Given the description of an element on the screen output the (x, y) to click on. 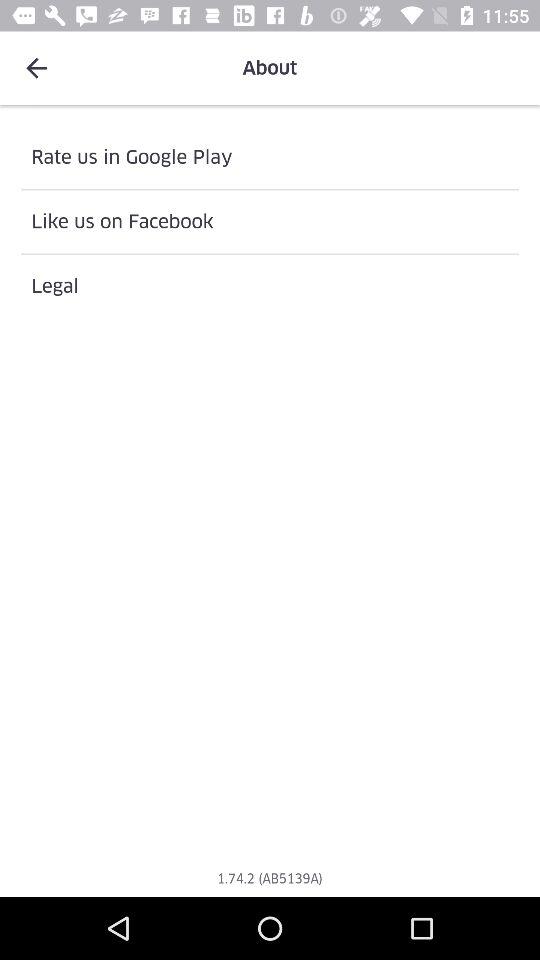
launch icon above the like us on icon (270, 157)
